Given the description of an element on the screen output the (x, y) to click on. 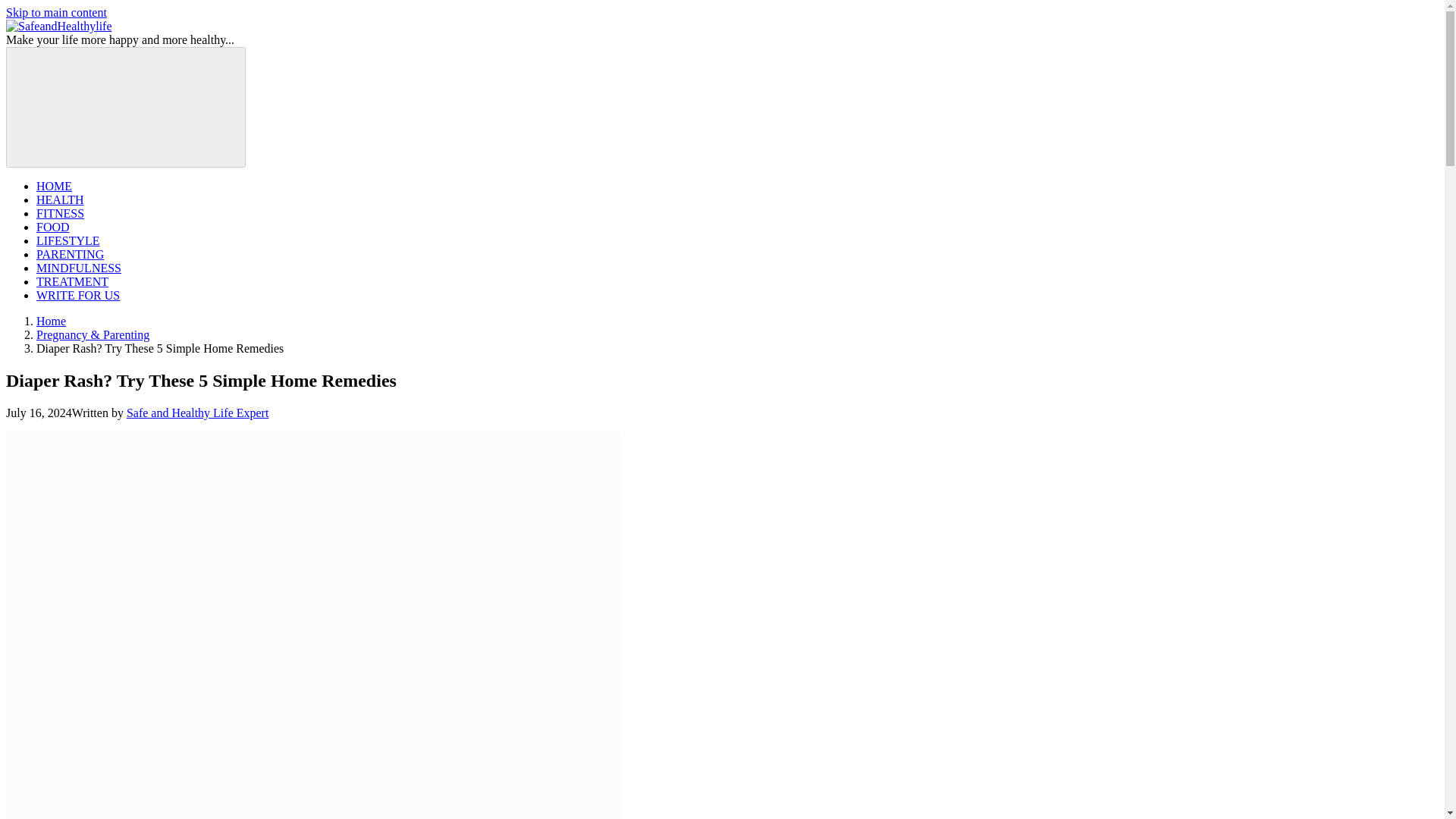
FOOD (52, 226)
Safe and Healthy Life Expert (196, 412)
HOME (53, 185)
PARENTING (69, 254)
MINDFULNESS (78, 267)
HEALTH (60, 199)
Skip to main content (55, 11)
TREATMENT (71, 281)
View all posts by Safe and Healthy Life Expert (196, 412)
WRITE FOR US (77, 295)
Home (50, 320)
FITNESS (60, 213)
LIFESTYLE (68, 240)
